Given the description of an element on the screen output the (x, y) to click on. 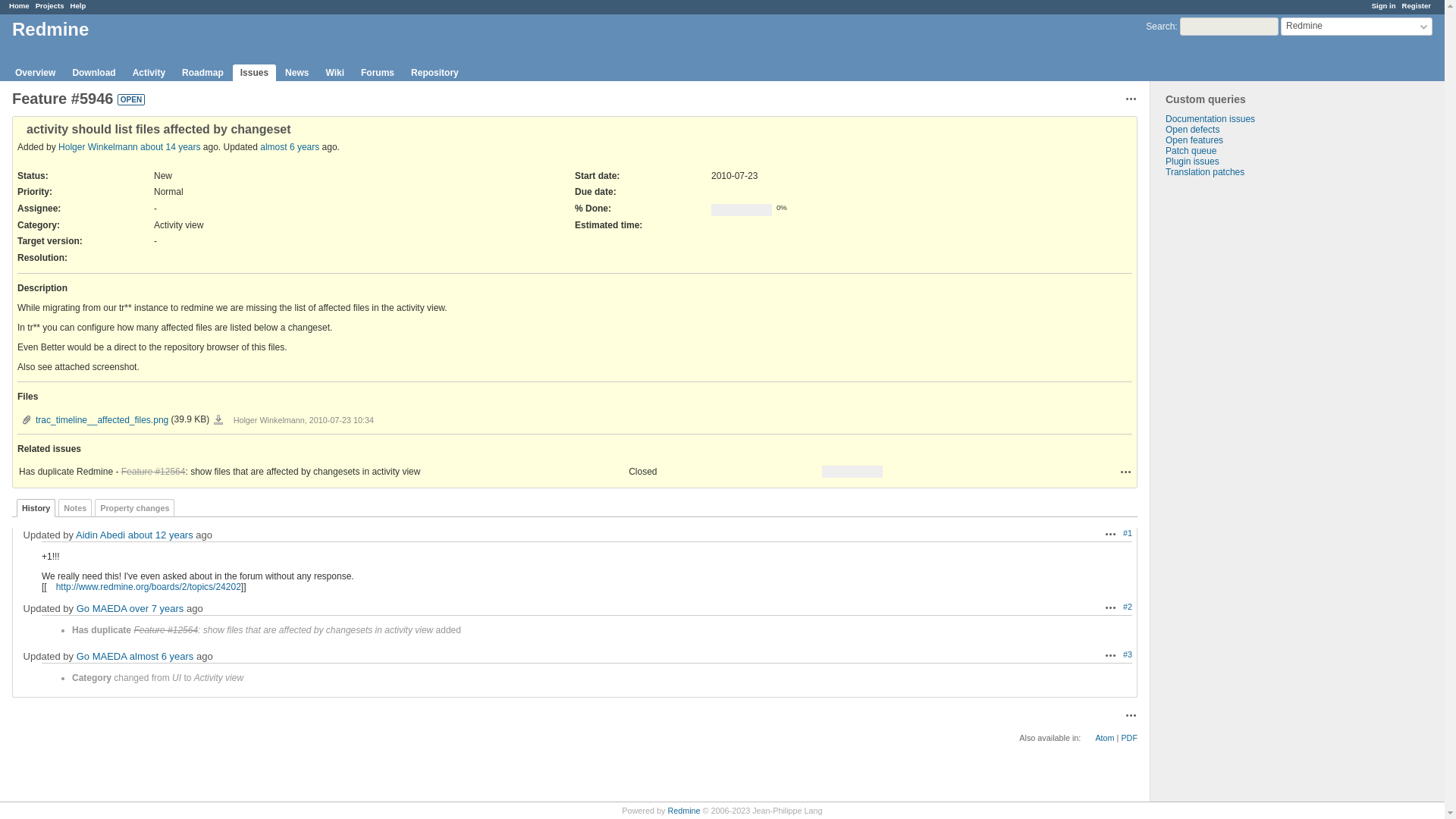
Roadmap (202, 72)
2017-01-01 13:58 (156, 608)
Download (218, 419)
Overview (34, 72)
Sign in (1383, 5)
Home (18, 5)
Actions (1110, 654)
Documentation issues (1210, 118)
Property changes (134, 507)
2010-07-23 10:34 (169, 146)
